Given the description of an element on the screen output the (x, y) to click on. 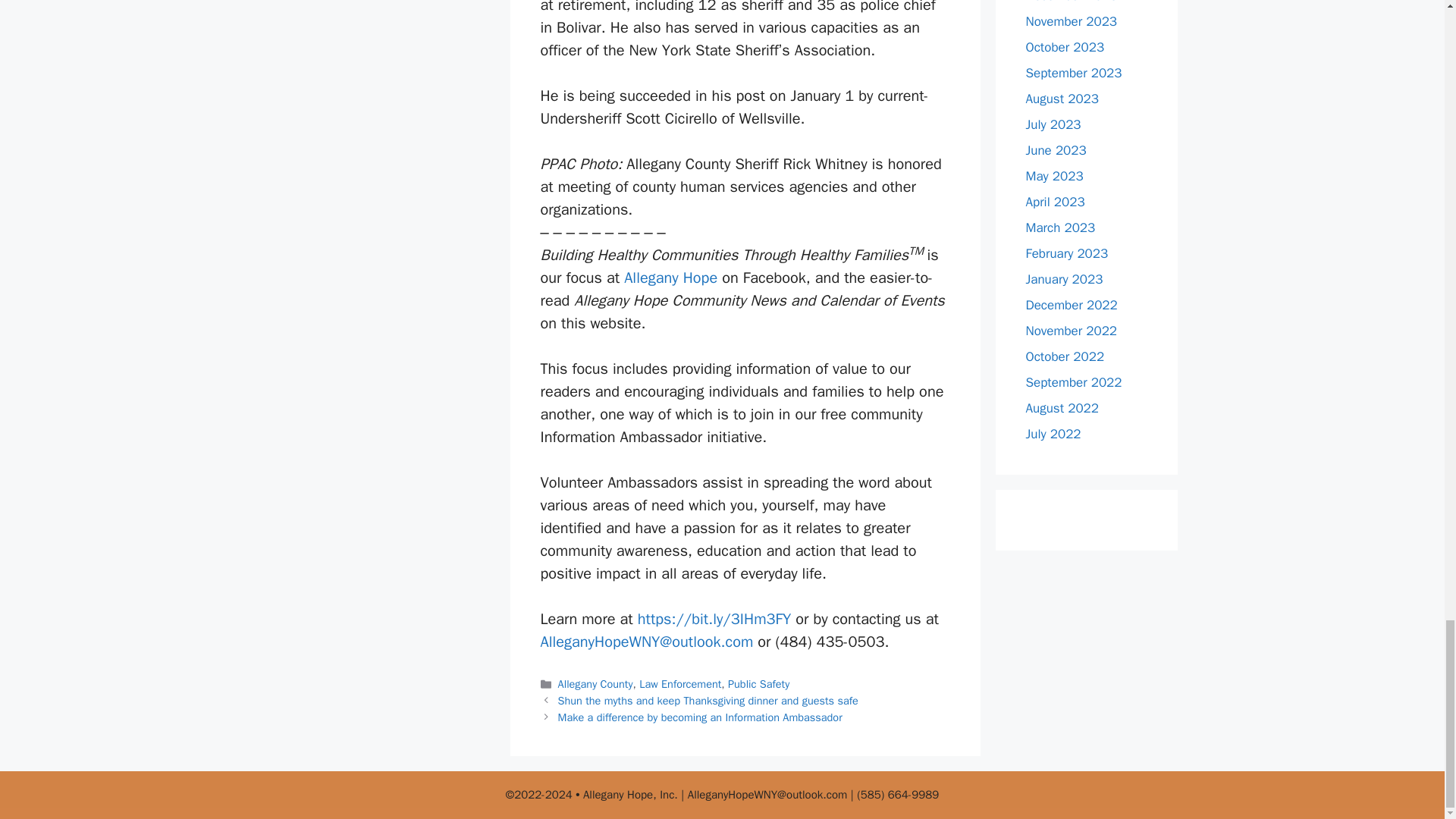
Public Safety (758, 684)
Allegany Hope (670, 277)
Law Enforcement (679, 684)
Shun the myths and keep Thanksgiving dinner and guests safe (708, 700)
Make a difference by becoming an Information Ambassador (700, 716)
Allegany County (595, 684)
